Given the description of an element on the screen output the (x, y) to click on. 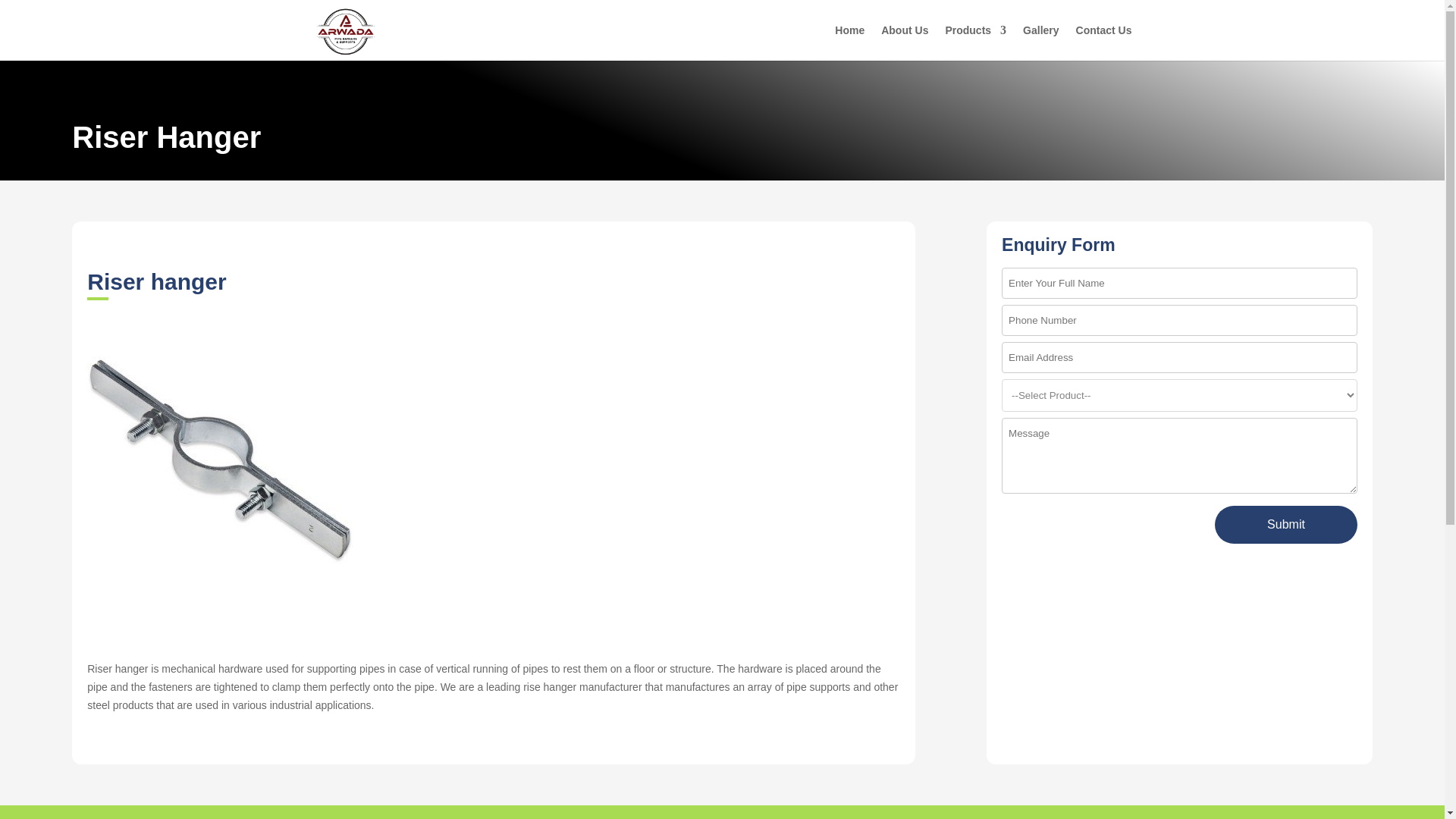
Contact Us (1103, 42)
Submit (1285, 524)
Products (975, 42)
About Us (904, 42)
Submit (1285, 524)
Gallery (1040, 42)
